Given the description of an element on the screen output the (x, y) to click on. 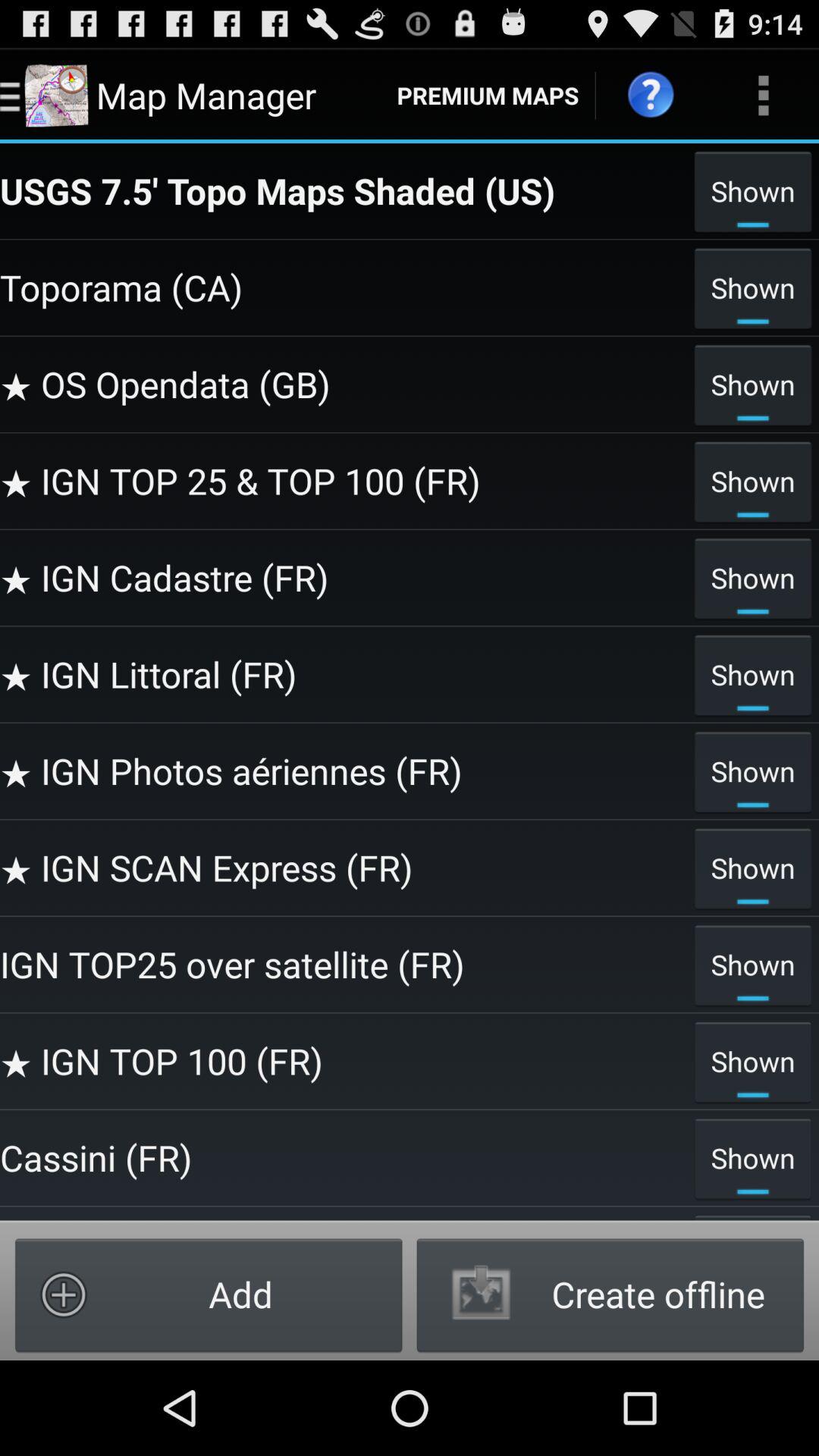
press the toporama (ca) icon (343, 287)
